Given the description of an element on the screen output the (x, y) to click on. 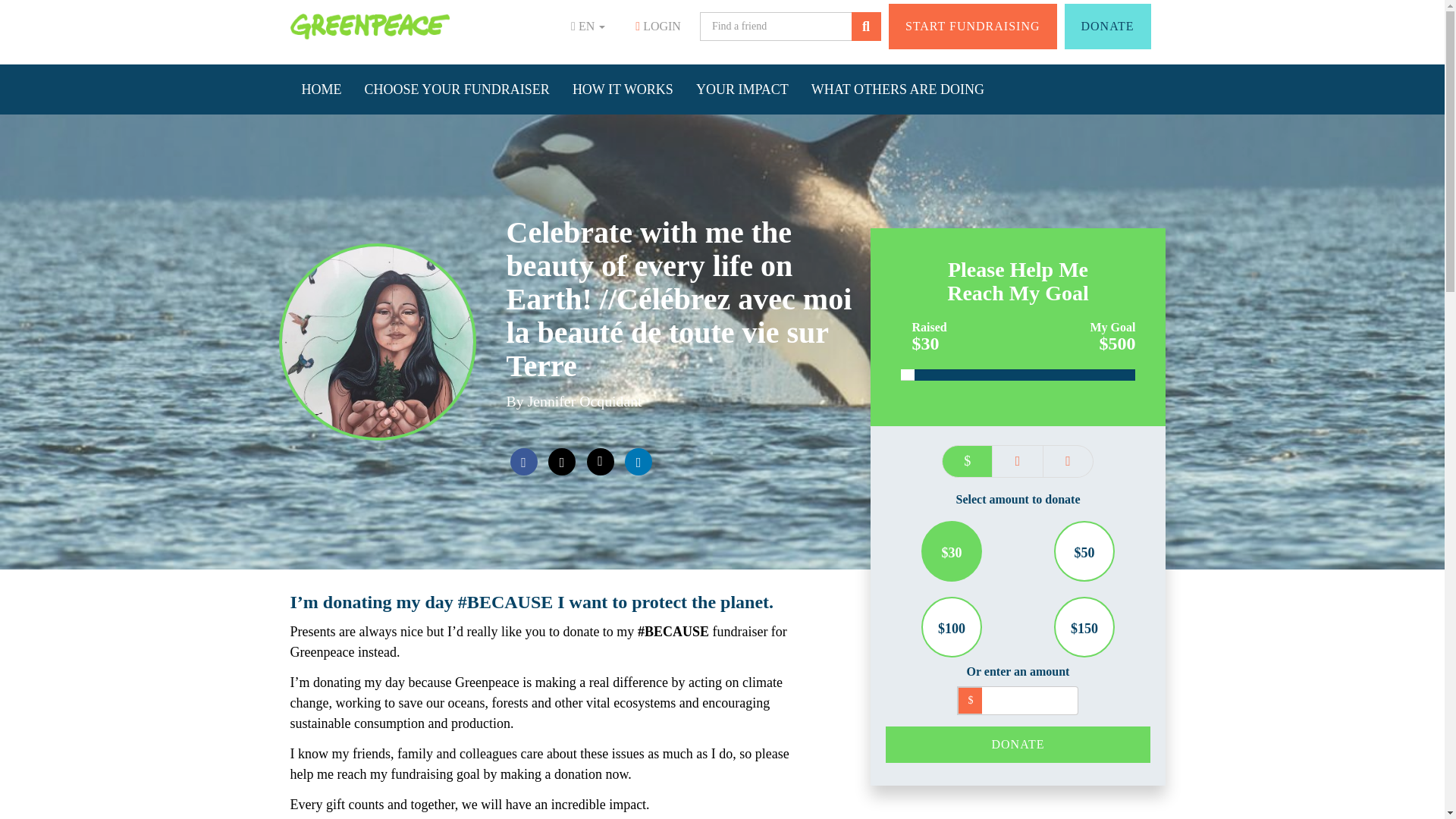
START FUNDRAISING (972, 26)
LOGIN (657, 26)
DONATE (1107, 26)
EN (588, 26)
HOME (320, 89)
CHOOSE YOUR FUNDRAISER (456, 89)
